Given the description of an element on the screen output the (x, y) to click on. 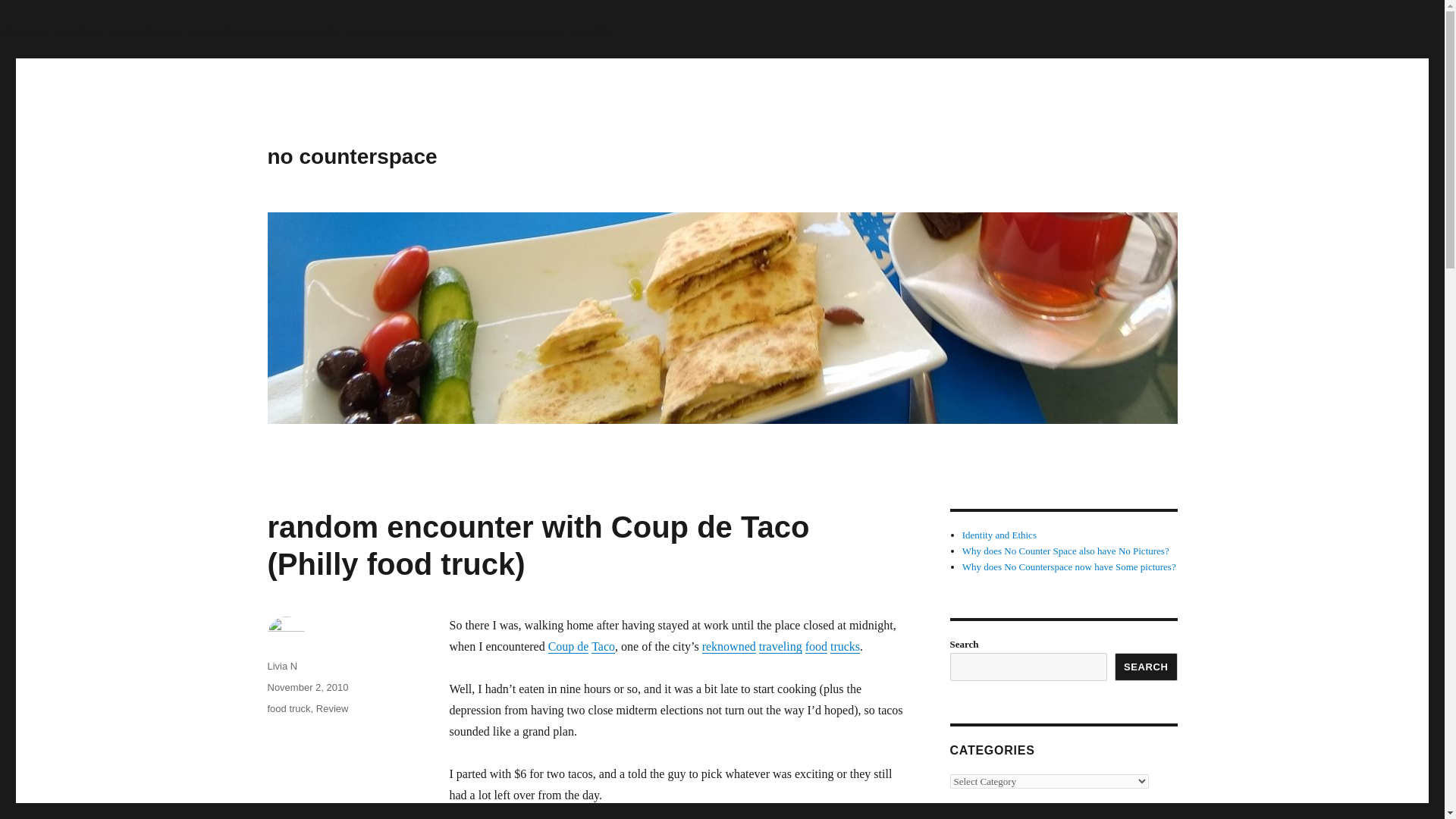
food truck (288, 708)
November 2, 2010 (306, 686)
Why does No Counter Space also have No Pictures? (1065, 550)
Review (332, 708)
Taco (602, 645)
Livia N (281, 665)
SEARCH (1146, 666)
reknowned (728, 645)
trucks (844, 645)
traveling (780, 645)
